Given the description of an element on the screen output the (x, y) to click on. 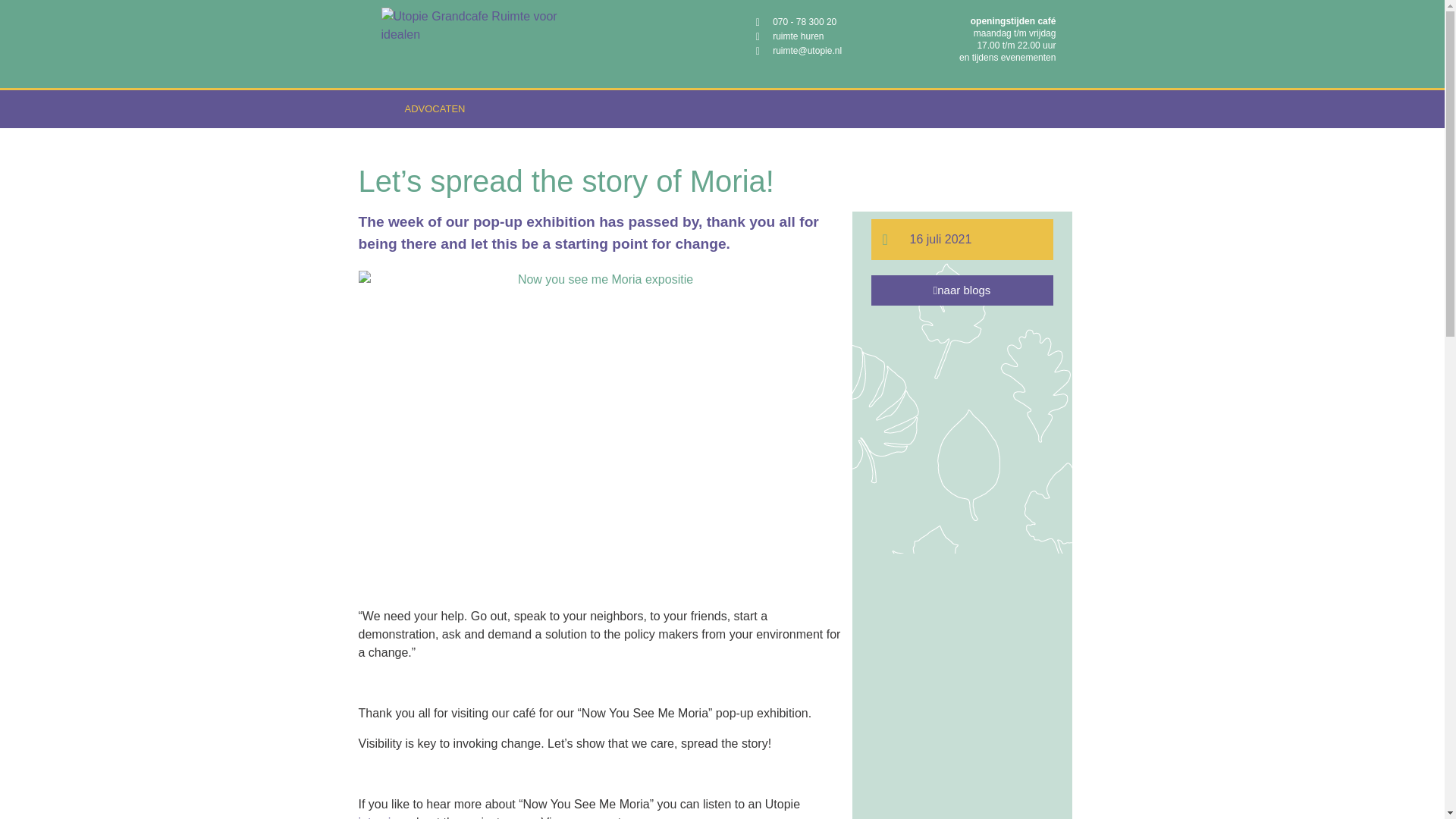
interview (382, 817)
ruimte huren (826, 36)
16 juli 2021 (927, 239)
070 - 78 300 20 (826, 22)
ADVOCATEN (433, 108)
naar blogs (961, 290)
